Given the description of an element on the screen output the (x, y) to click on. 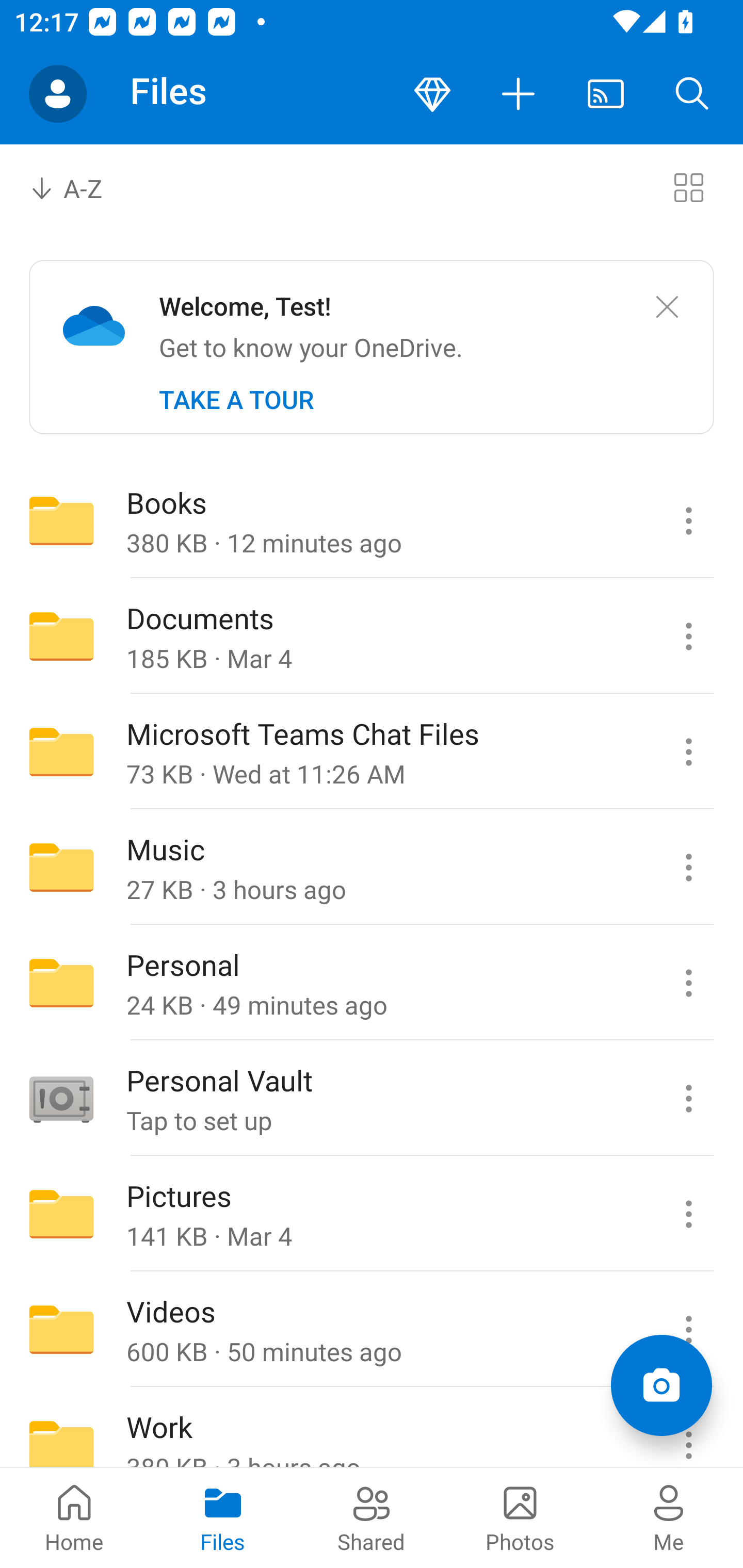
Account switcher (57, 93)
Cast. Disconnected (605, 93)
Premium button (432, 93)
More actions button (518, 93)
Search button (692, 93)
A-Z Sort by combo box, sort by name, A to Z (80, 187)
Switch to tiles view (688, 187)
Close (667, 307)
TAKE A TOUR (236, 399)
Books commands (688, 520)
Folder Documents 185 KB · Mar 4 Documents commands (371, 636)
Documents commands (688, 636)
Microsoft Teams Chat Files commands (688, 751)
Folder Music 27 KB · 3 hours ago Music commands (371, 867)
Music commands (688, 867)
Personal commands (688, 983)
Personal Vault commands (688, 1099)
Folder Pictures 141 KB · Mar 4 Pictures commands (371, 1214)
Pictures commands (688, 1214)
Videos commands (688, 1329)
Add items Scan (660, 1385)
Folder Work 380 KB · 3 hours ago Work commands (371, 1427)
Work commands (688, 1427)
Home pivot Home (74, 1517)
Shared pivot Shared (371, 1517)
Photos pivot Photos (519, 1517)
Me pivot Me (668, 1517)
